Given the description of an element on the screen output the (x, y) to click on. 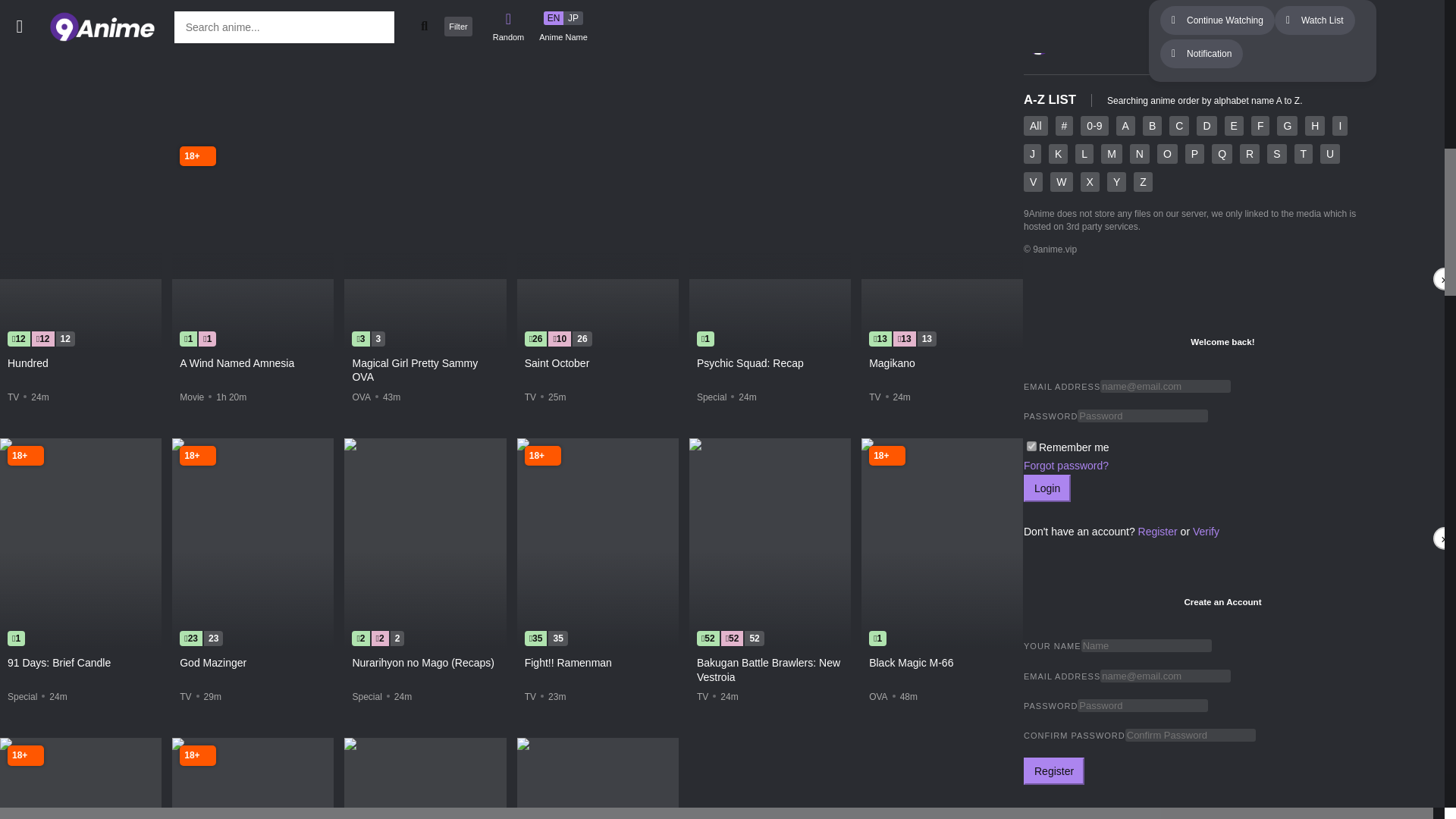
1 (1031, 446)
